Given the description of an element on the screen output the (x, y) to click on. 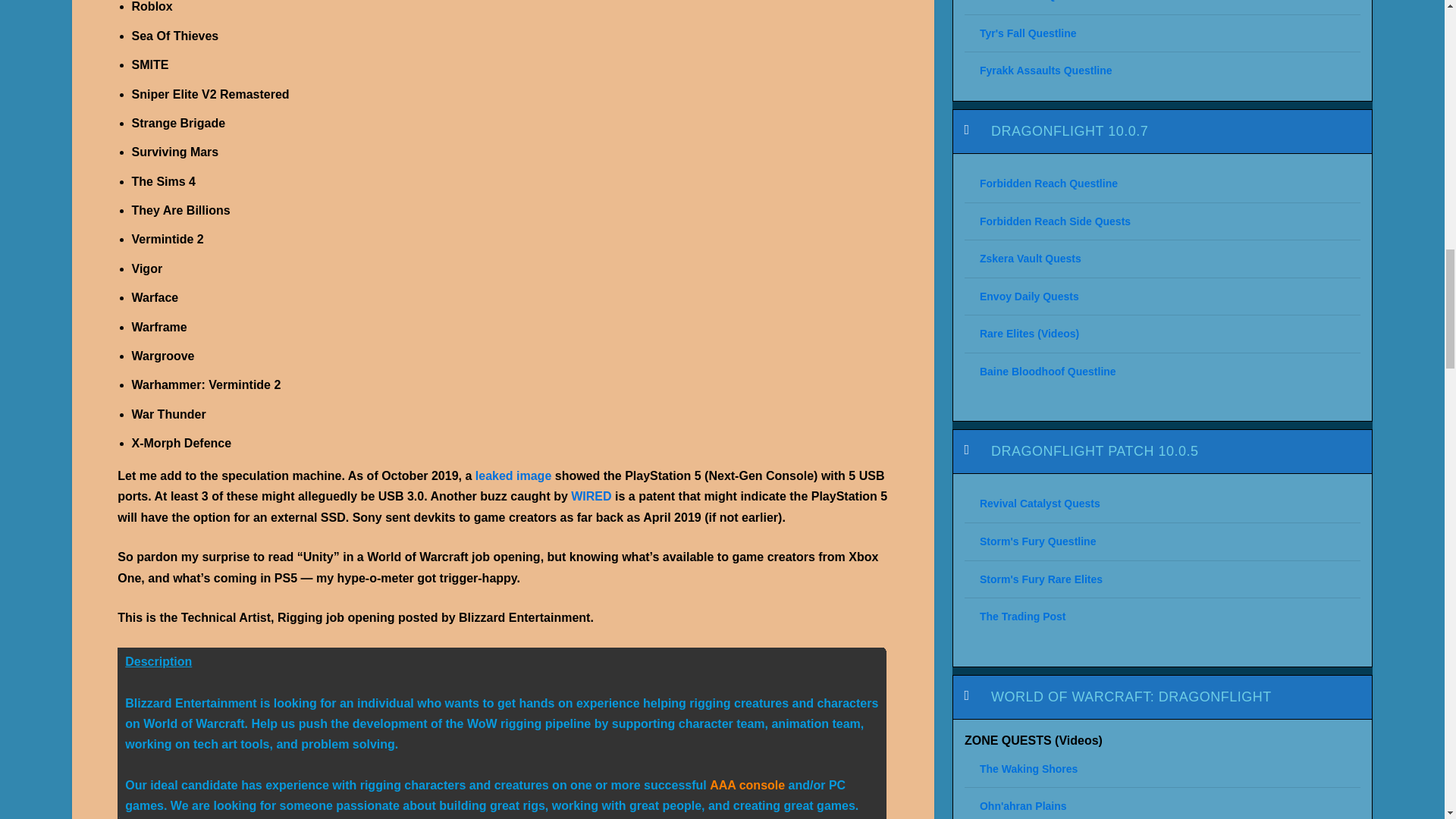
leaked image (513, 475)
WIRED (590, 495)
